Given the description of an element on the screen output the (x, y) to click on. 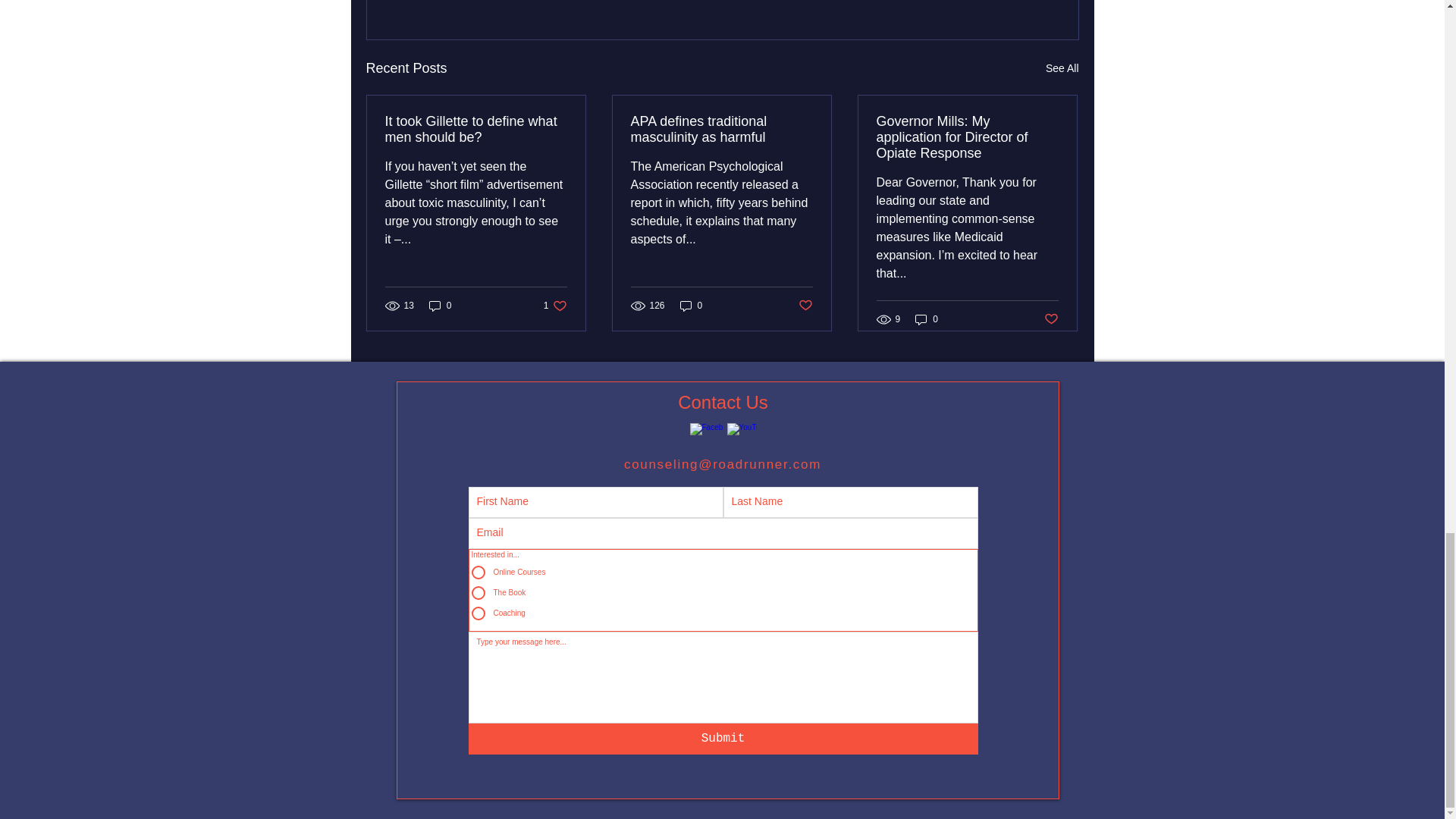
Post not marked as liked (1050, 319)
0 (926, 319)
0 (691, 305)
See All (1061, 68)
Post not marked as liked (804, 305)
APA defines traditional masculinity as harmful (555, 305)
Submit (721, 129)
It took Gillette to define what men should be?  (723, 738)
